Given the description of an element on the screen output the (x, y) to click on. 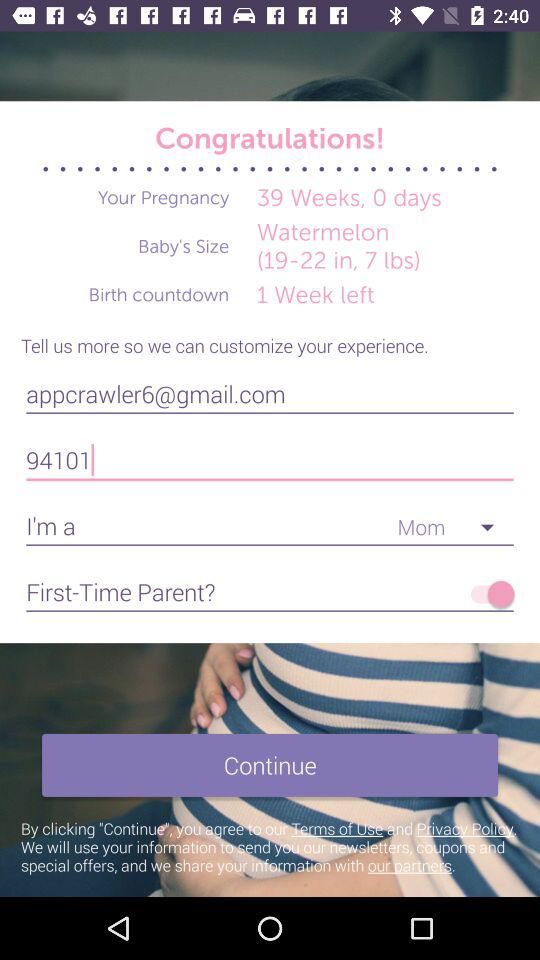
tap the icon above the 94101 icon (270, 394)
